Given the description of an element on the screen output the (x, y) to click on. 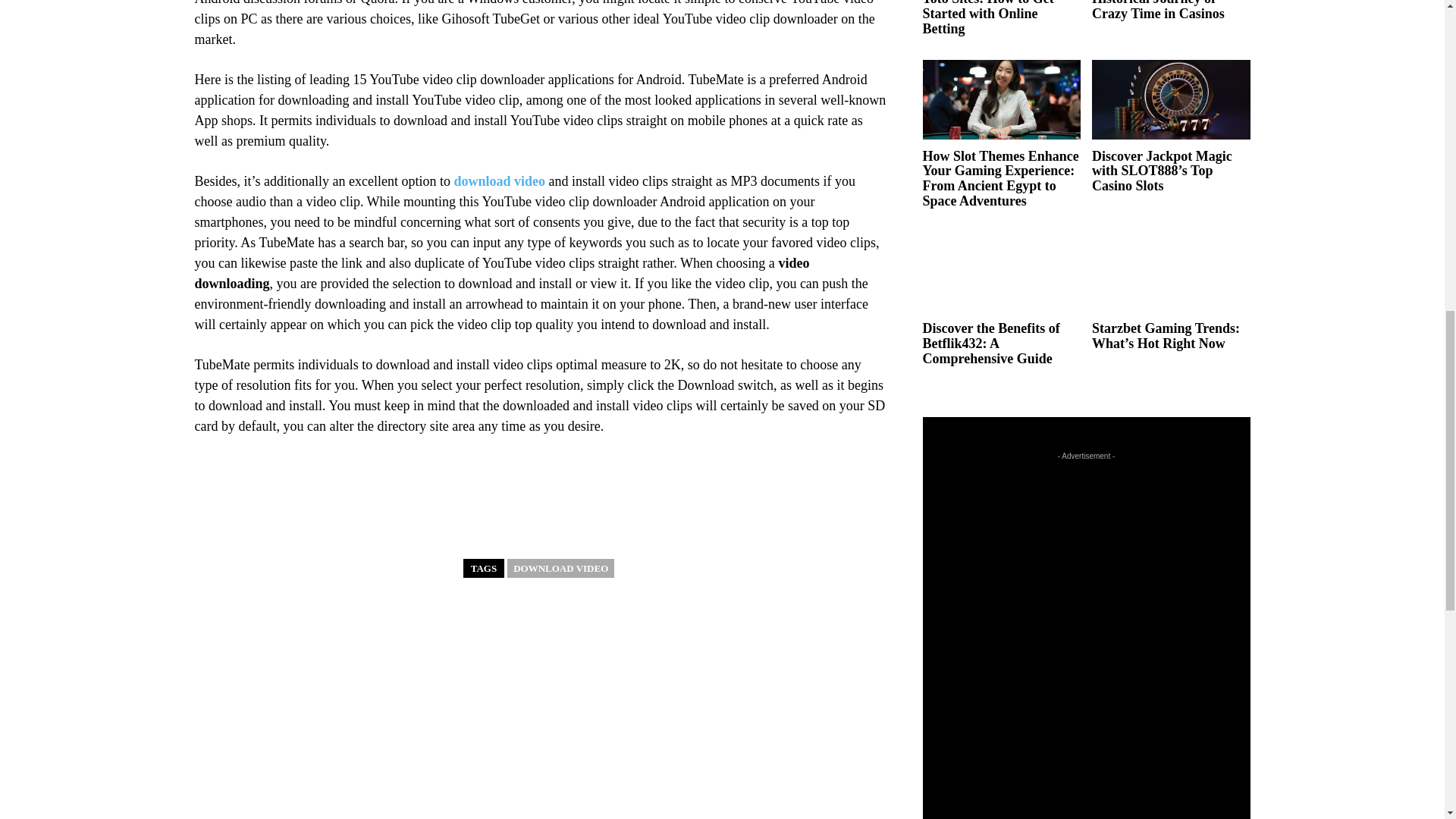
DOWNLOAD VIDEO (560, 568)
download video (498, 181)
